Given the description of an element on the screen output the (x, y) to click on. 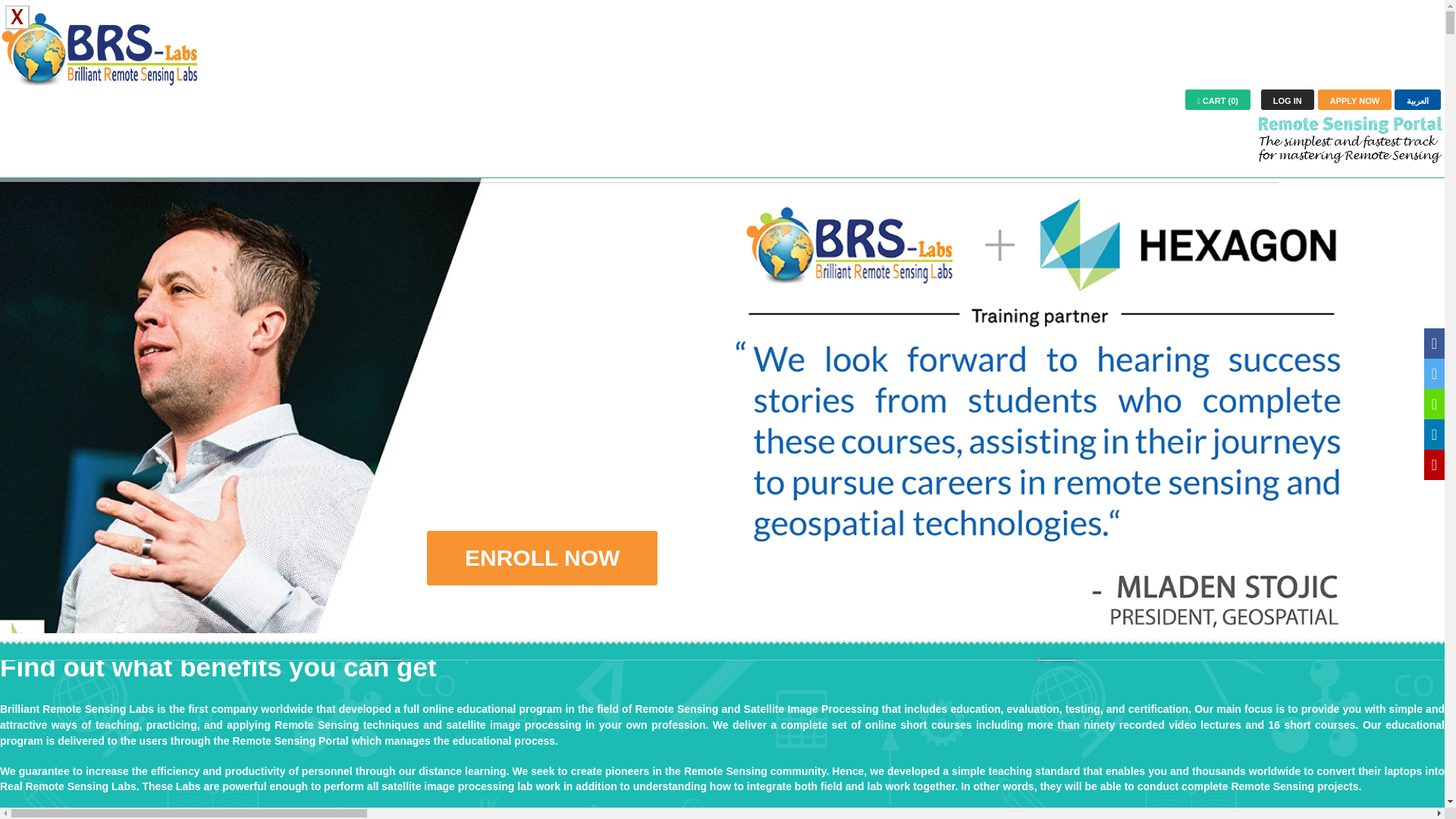
SCHOLARSHIPS (277, 197)
PRICING (362, 197)
COURSES (187, 197)
BROCHURES (512, 197)
CERTIFICATES (101, 197)
APPLY NOW (1354, 99)
HOME (26, 197)
ENROLL NOW (541, 557)
ABOUT (776, 197)
WORKSHOPS (603, 197)
CONTACT (841, 197)
PARTNERSHIP (698, 197)
LOG IN (1287, 99)
